Given the description of an element on the screen output the (x, y) to click on. 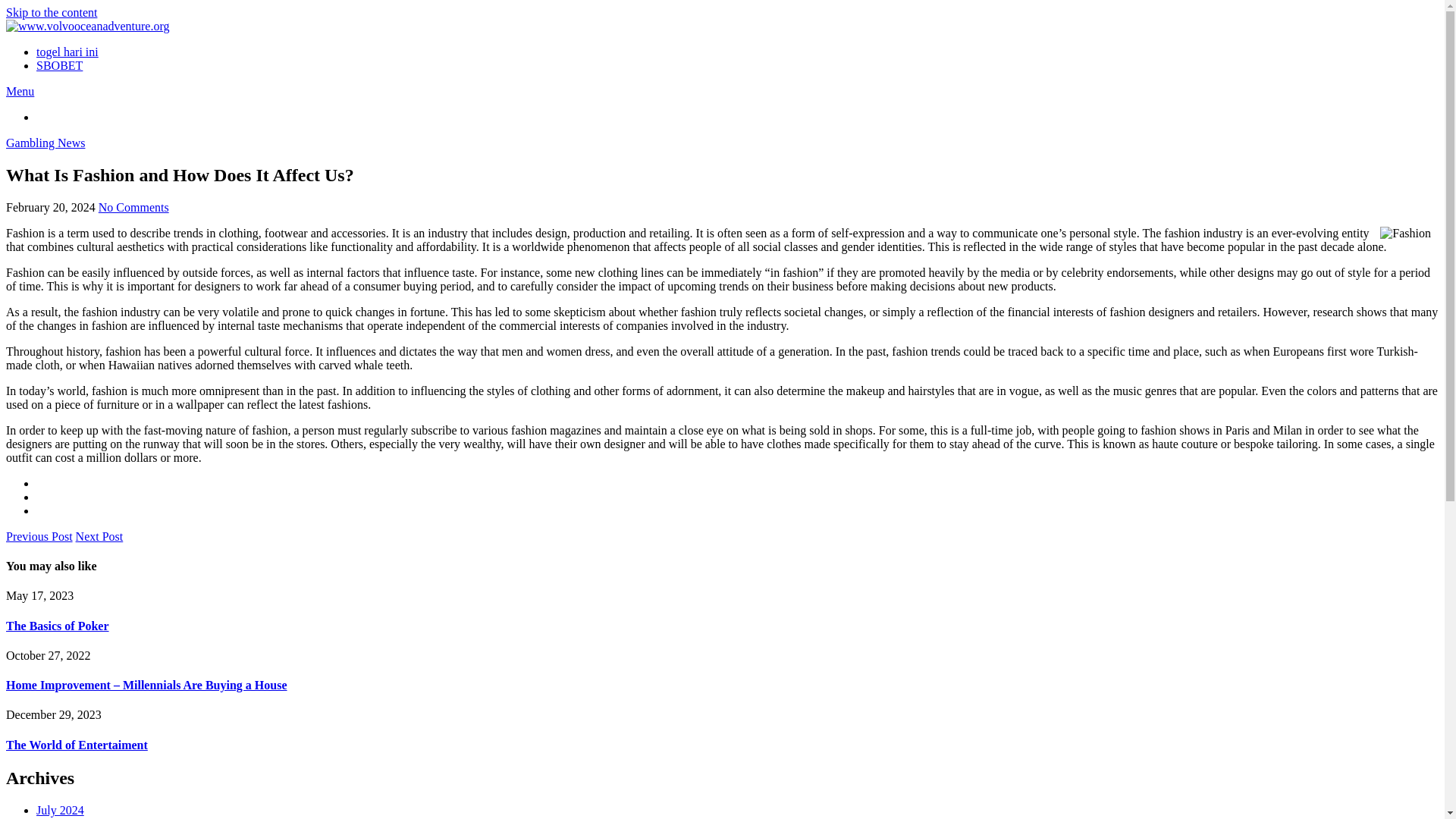
SBOBET (59, 65)
The World of Entertaiment (76, 744)
Menu (19, 91)
June 2024 (60, 818)
No Comments (133, 206)
July 2024 (60, 809)
The Basics of Poker (57, 625)
Skip to the content (51, 11)
Previous Post (38, 535)
togel hari ini (67, 51)
